Given the description of an element on the screen output the (x, y) to click on. 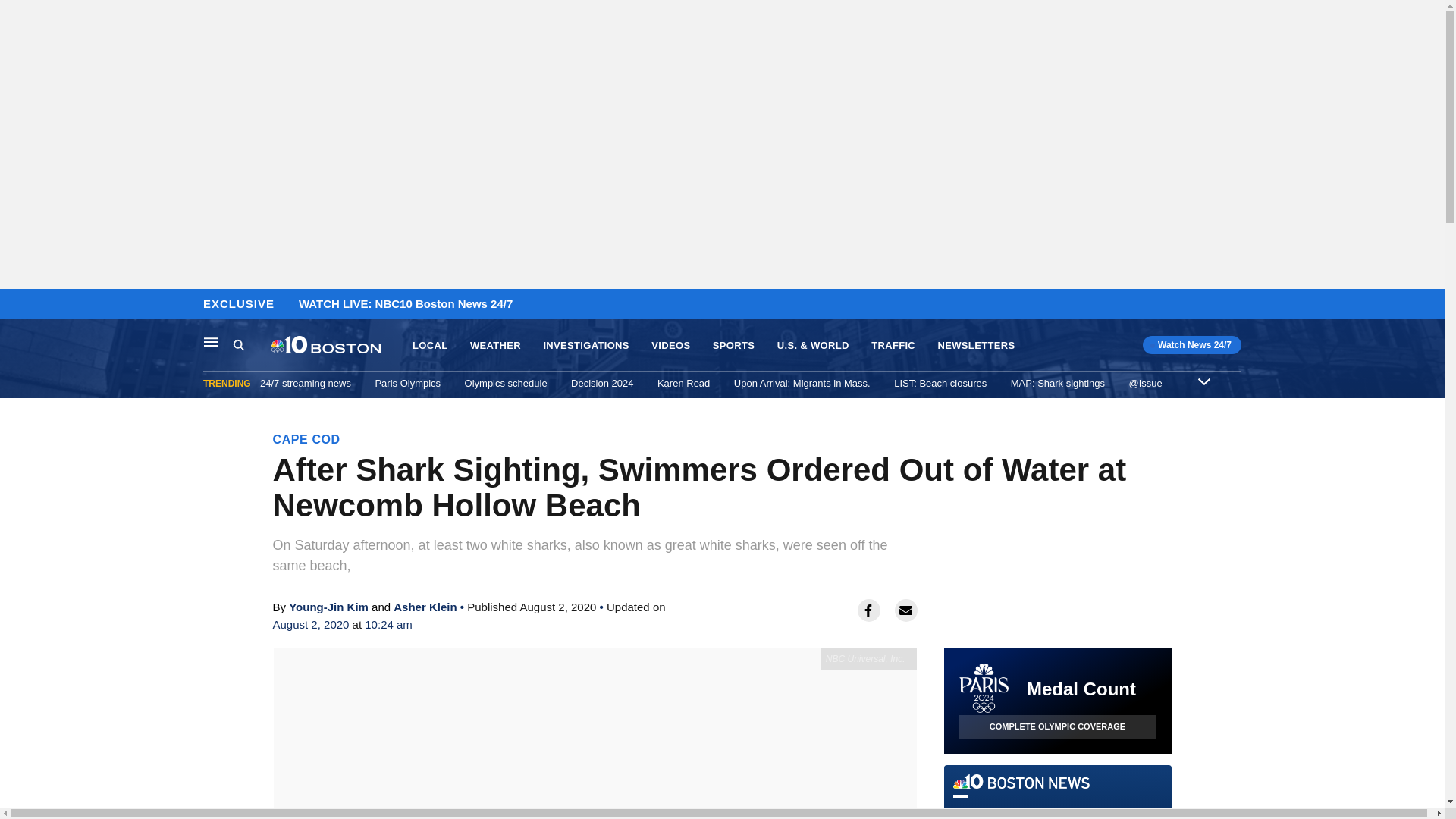
SPORTS (733, 345)
Main Navigation (210, 341)
Olympics schedule (505, 383)
Upon Arrival: Migrants in Mass. (801, 383)
MAP: Shark sightings (1057, 383)
WEATHER (495, 345)
INVESTIGATIONS (585, 345)
LOCAL (429, 345)
TRAFFIC (892, 345)
Paris Olympics (407, 383)
